Given the description of an element on the screen output the (x, y) to click on. 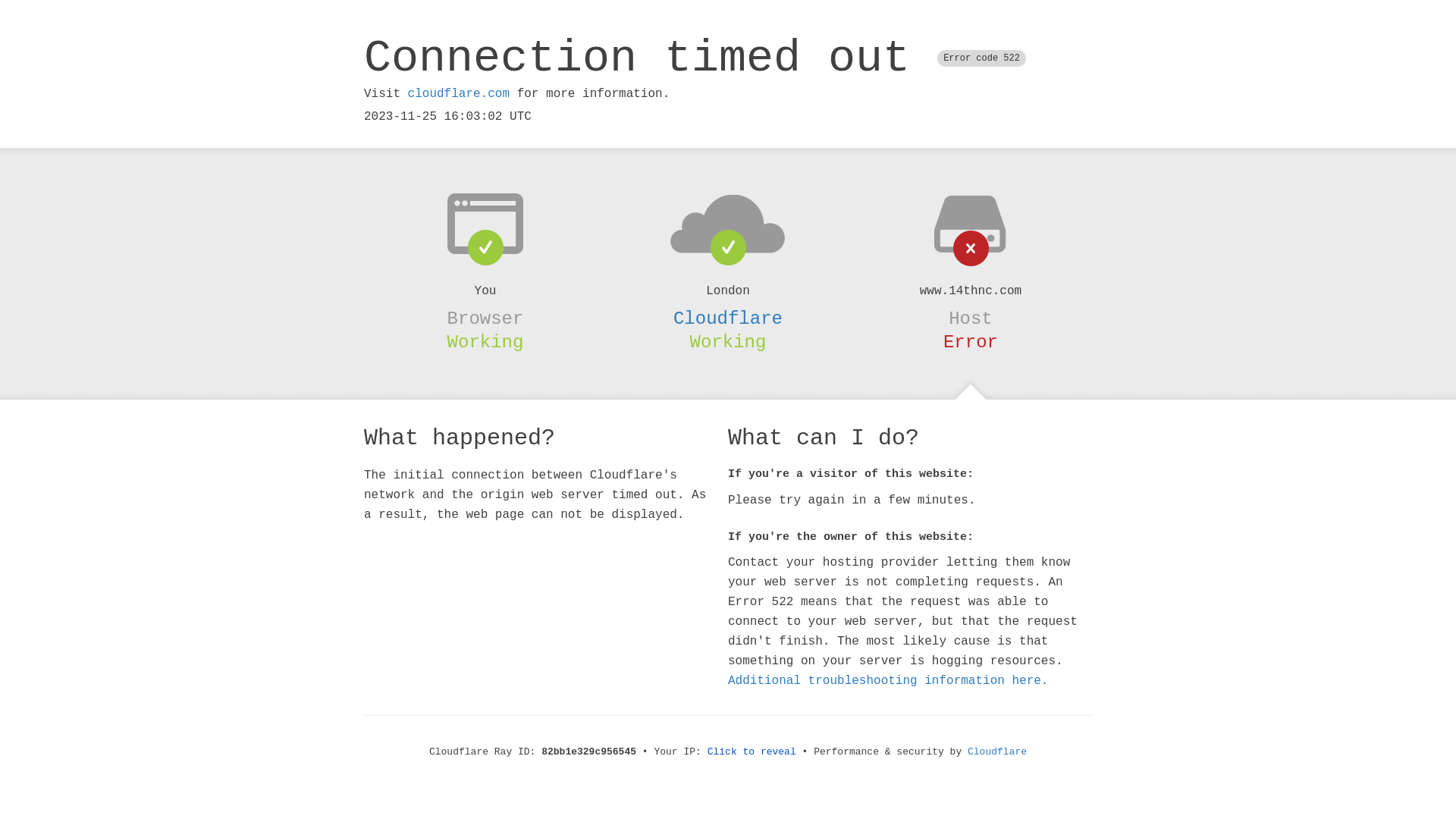
cloudflare.com Element type: text (458, 93)
Additional troubleshooting information here. Element type: text (888, 680)
Cloudflare Element type: text (727, 318)
Click to reveal Element type: text (751, 751)
Cloudflare Element type: text (996, 751)
